Given the description of an element on the screen output the (x, y) to click on. 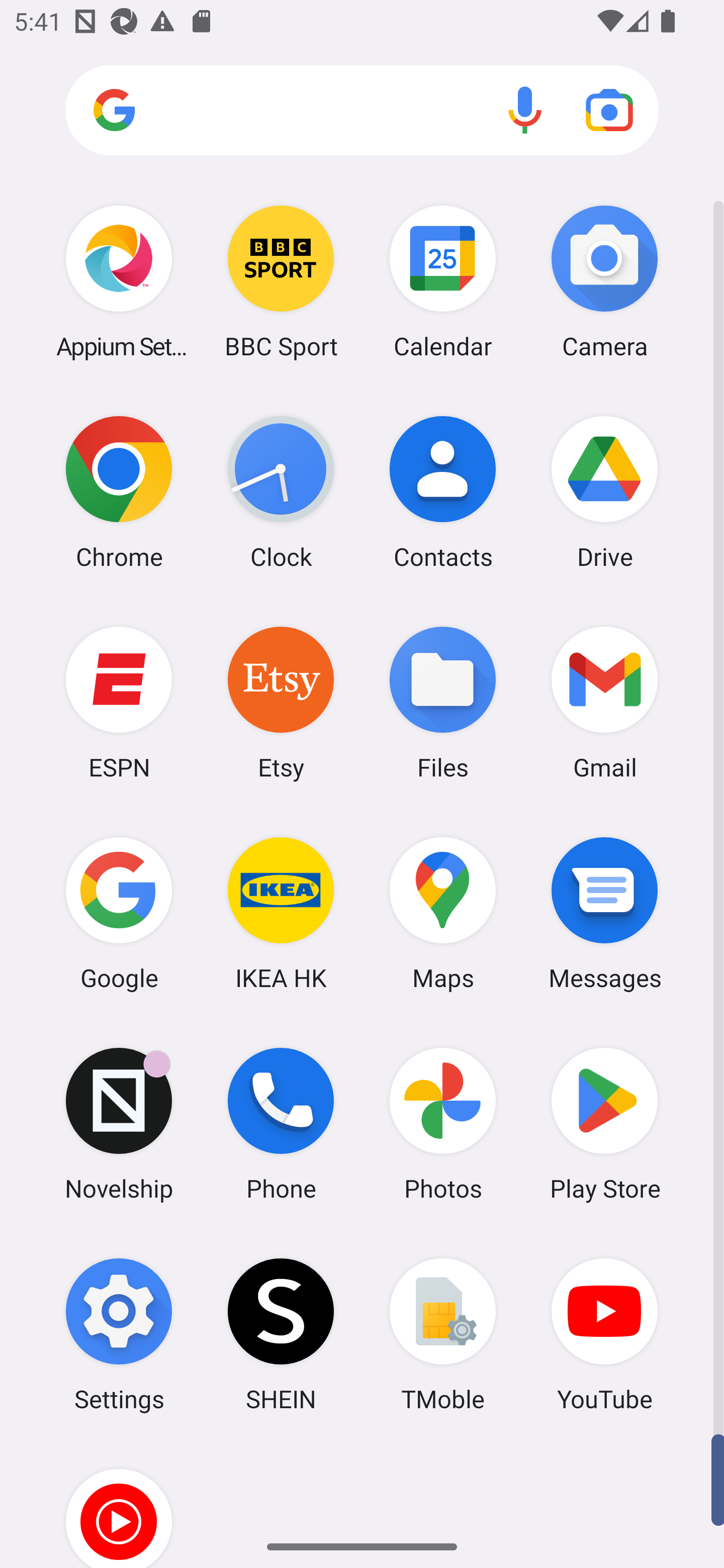
Search apps, web and more (361, 110)
Voice search (524, 109)
Google Lens (608, 109)
Appium Settings (118, 281)
BBC Sport (280, 281)
Calendar (443, 281)
Camera (604, 281)
Chrome (118, 492)
Clock (280, 492)
Contacts (443, 492)
Drive (604, 492)
ESPN (118, 702)
Etsy (280, 702)
Files (443, 702)
Gmail (604, 702)
Google (118, 913)
IKEA HK (280, 913)
Maps (443, 913)
Messages (604, 913)
Novelship Novelship has 1 notification (118, 1124)
Phone (280, 1124)
Photos (443, 1124)
Play Store (604, 1124)
Settings (118, 1334)
SHEIN (280, 1334)
TMoble (443, 1334)
YouTube (604, 1334)
YT Music (118, 1503)
